Given the description of an element on the screen output the (x, y) to click on. 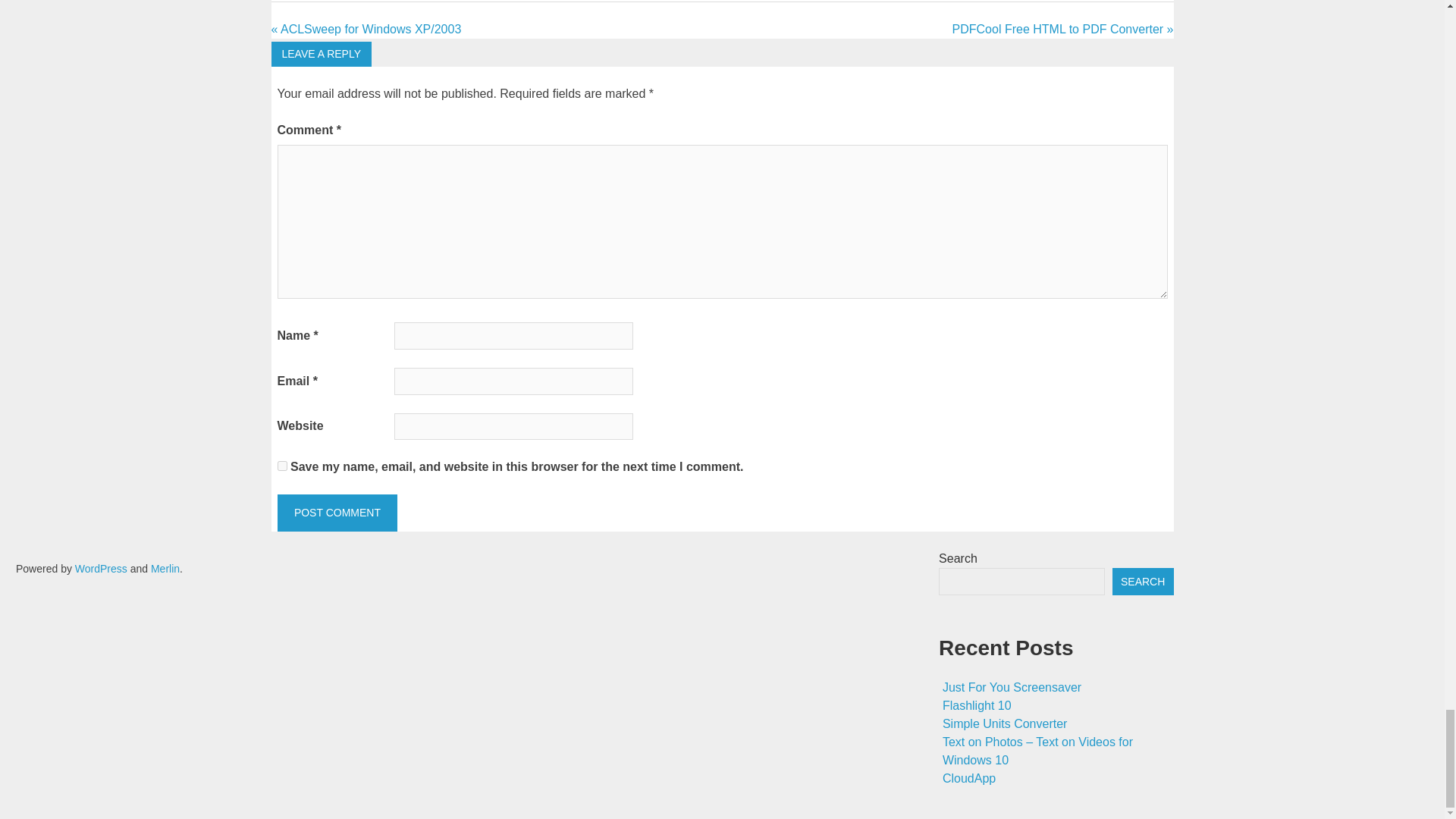
SEARCH (1142, 581)
WordPress (101, 568)
Merlin WordPress Theme (165, 568)
CloudApp (968, 778)
Flashlight 10 (976, 705)
Merlin (165, 568)
Post Comment (337, 512)
Simple Units Converter (1004, 723)
Just For You Screensaver (1011, 686)
yes (282, 465)
WordPress (101, 568)
Post Comment (337, 512)
